Given the description of an element on the screen output the (x, y) to click on. 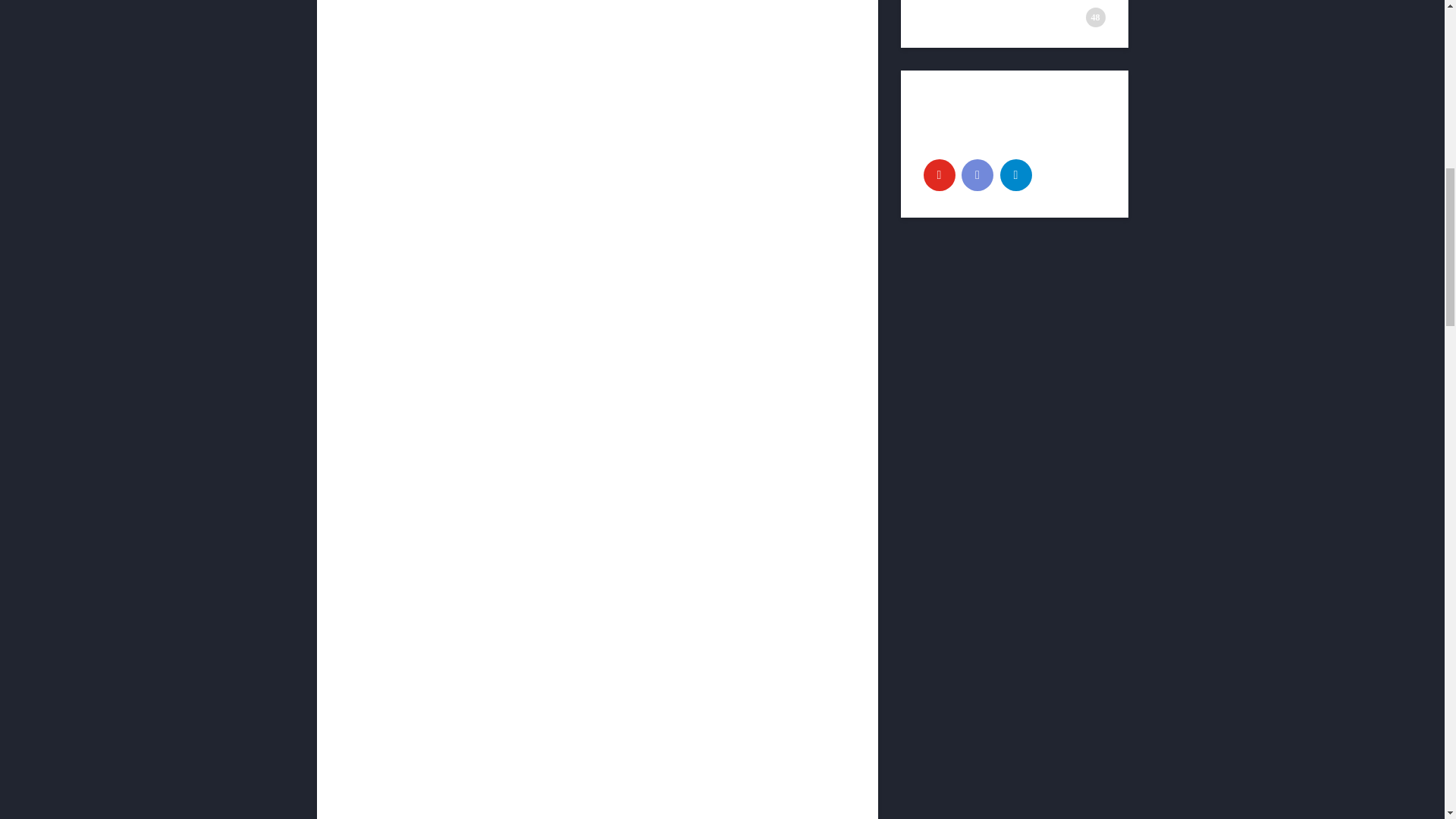
Telegram (1014, 174)
YouTube (939, 174)
Discord (976, 174)
